Given the description of an element on the screen output the (x, y) to click on. 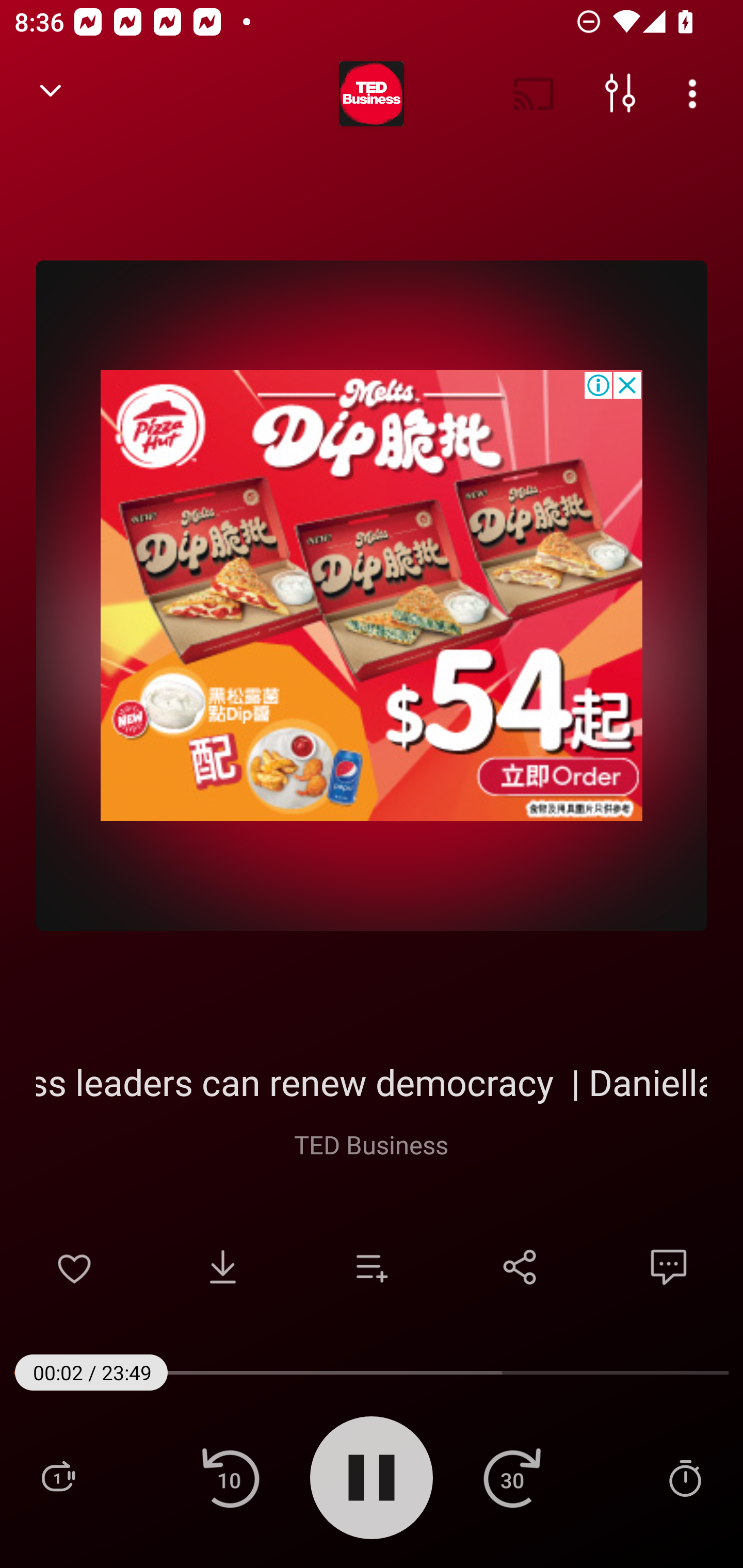
Cast. Disconnected (533, 93)
 Back (50, 94)
TED Business (370, 1144)
Comments (668, 1266)
Add to Favorites (73, 1266)
Add to playlist (371, 1266)
Share (519, 1266)
 Playlist (57, 1477)
Sleep Timer  (684, 1477)
